Given the description of an element on the screen output the (x, y) to click on. 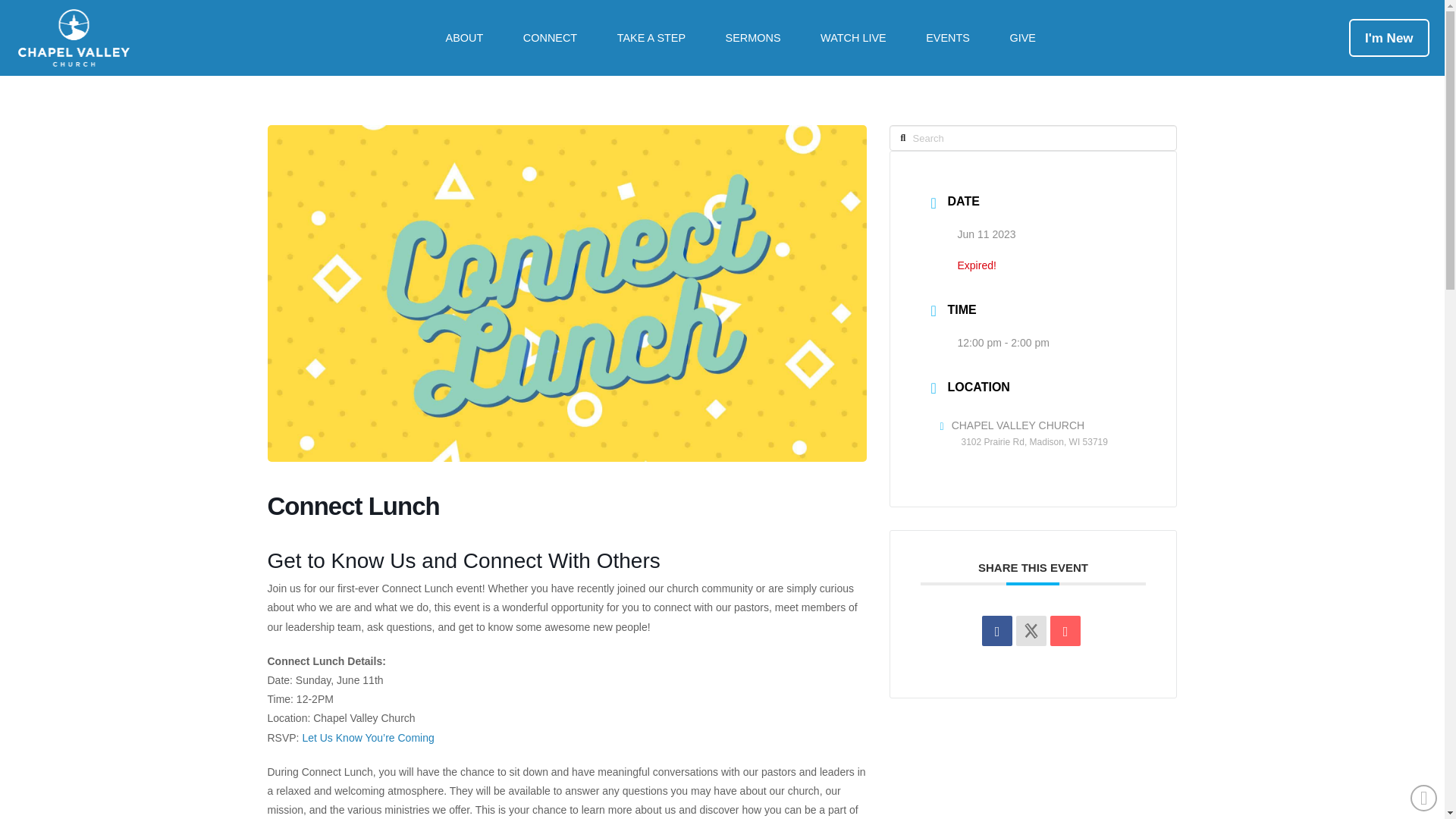
EVENTS (947, 38)
CONNECT (549, 38)
WATCH LIVE (852, 38)
TAKE A STEP (650, 38)
X Social Network (1031, 630)
Back to Top (1423, 797)
SERMONS (752, 38)
ABOUT (463, 38)
I'm New (1389, 37)
Email (1064, 630)
Share on Facebook (996, 630)
